Given the description of an element on the screen output the (x, y) to click on. 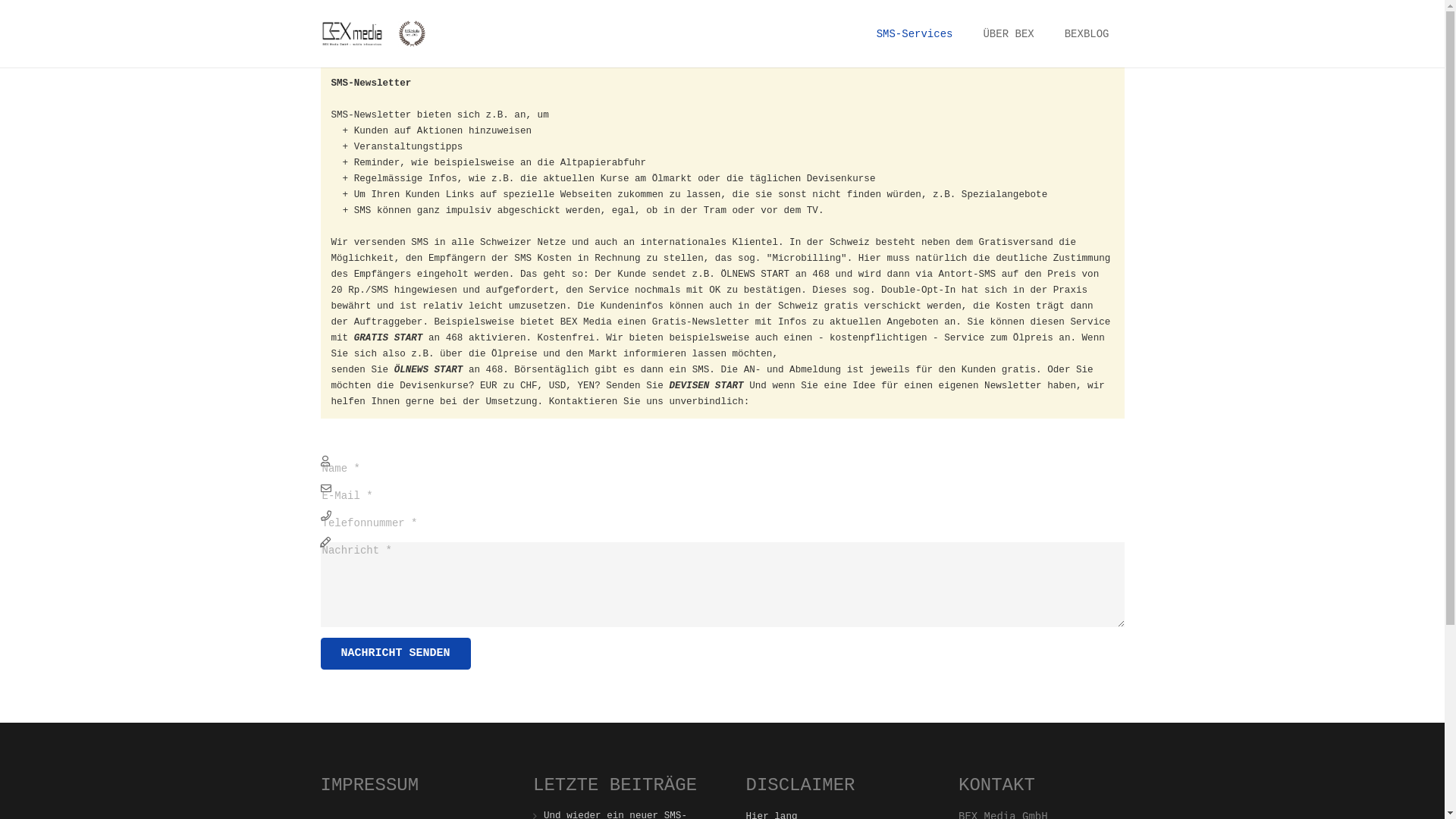
SMS-Services Element type: text (914, 34)
BEXBLOG Element type: text (1086, 34)
NACHRICHT SENDEN Element type: text (395, 653)
